Given the description of an element on the screen output the (x, y) to click on. 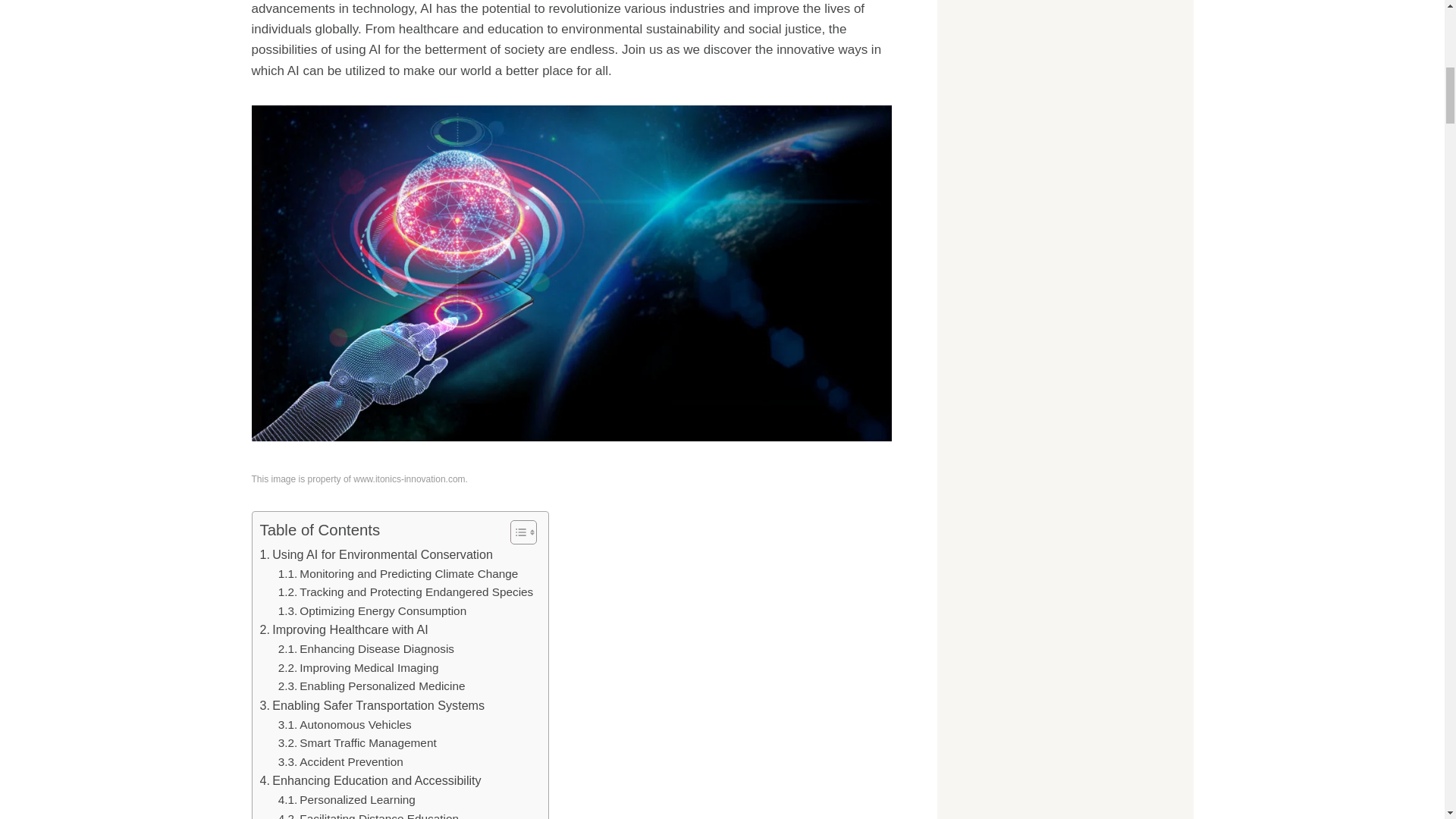
Facilitating Distance Education (368, 814)
Tracking and Protecting Endangered Species (406, 592)
Facilitating Distance Education (368, 814)
Autonomous Vehicles (345, 724)
Using AI for Environmental Conservation (375, 555)
Using AI for Environmental Conservation (375, 555)
Enabling Personalized Medicine (371, 686)
Accident Prevention (340, 762)
Improving Medical Imaging (358, 668)
Optimizing Energy Consumption (371, 610)
Enhancing Disease Diagnosis (366, 649)
Smart Traffic Management (357, 742)
Autonomous Vehicles (345, 724)
Enabling Safer Transportation Systems (371, 705)
Personalized Learning (346, 800)
